Given the description of an element on the screen output the (x, y) to click on. 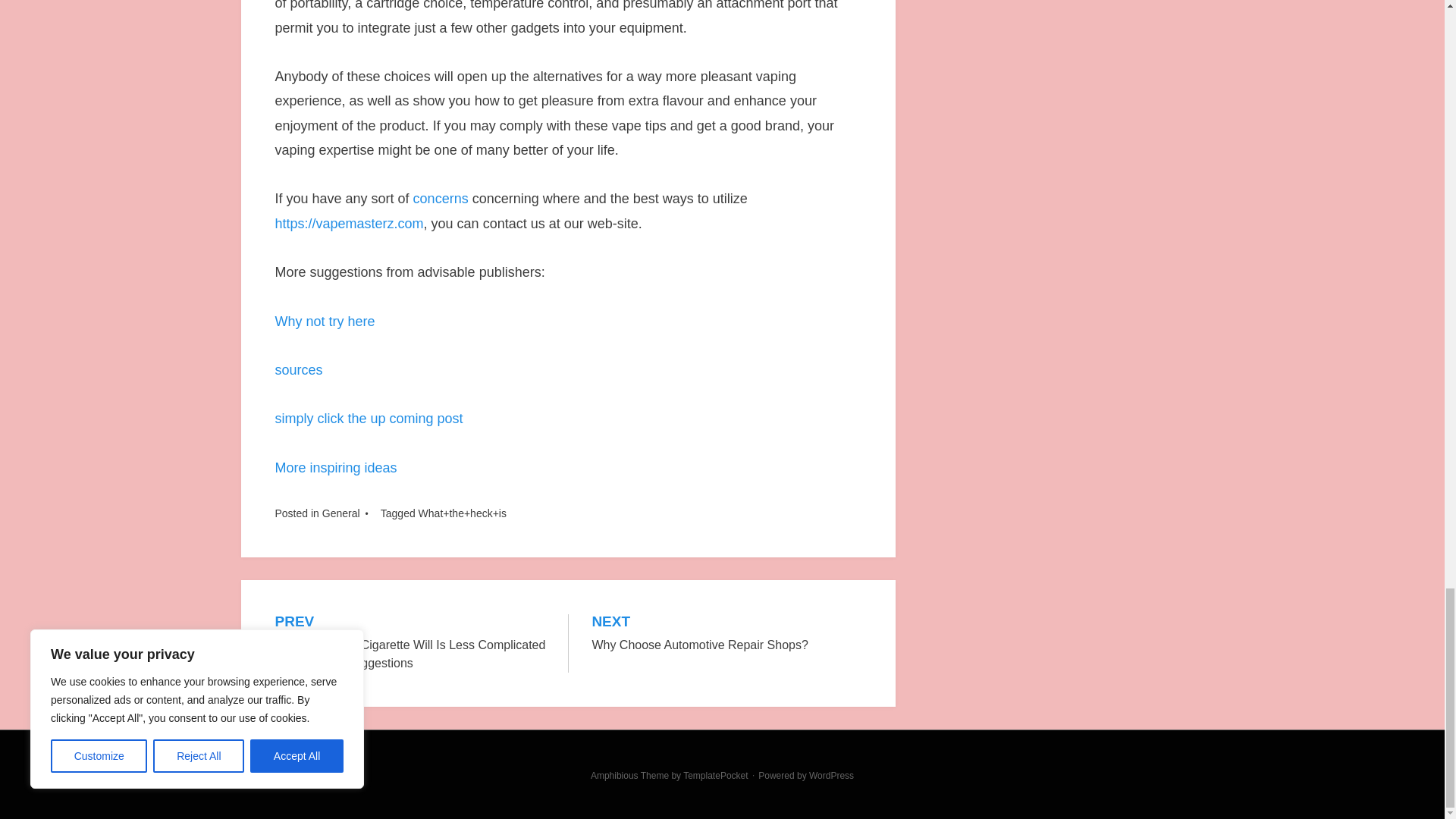
More inspiring ideas (335, 467)
TemplatePocket (715, 775)
sources (298, 369)
Why not try here (324, 321)
General (340, 512)
concerns (726, 634)
simply click the up coming post (440, 198)
WordPress (369, 418)
